Given the description of an element on the screen output the (x, y) to click on. 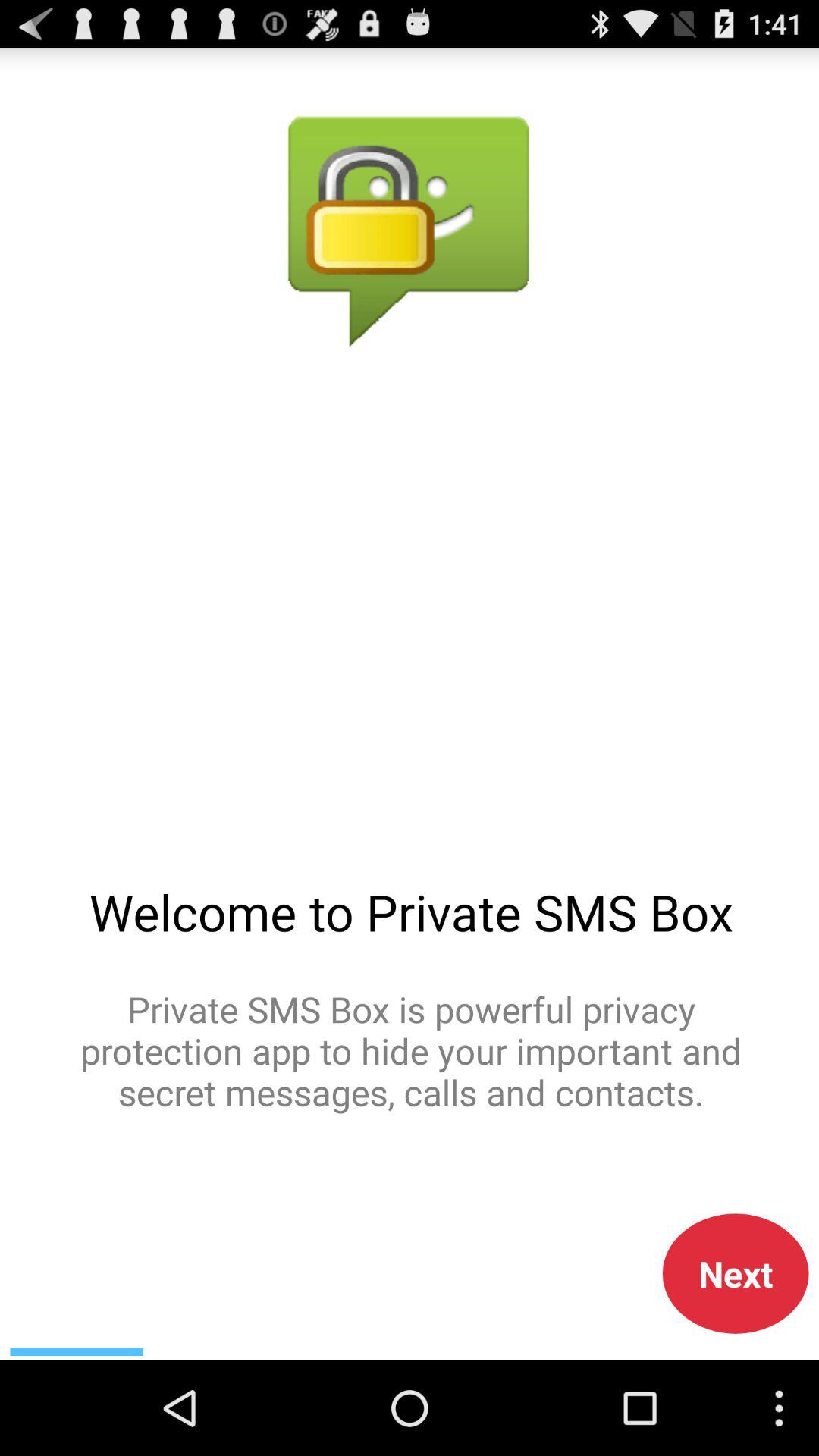
open button at the bottom right corner (735, 1273)
